Given the description of an element on the screen output the (x, y) to click on. 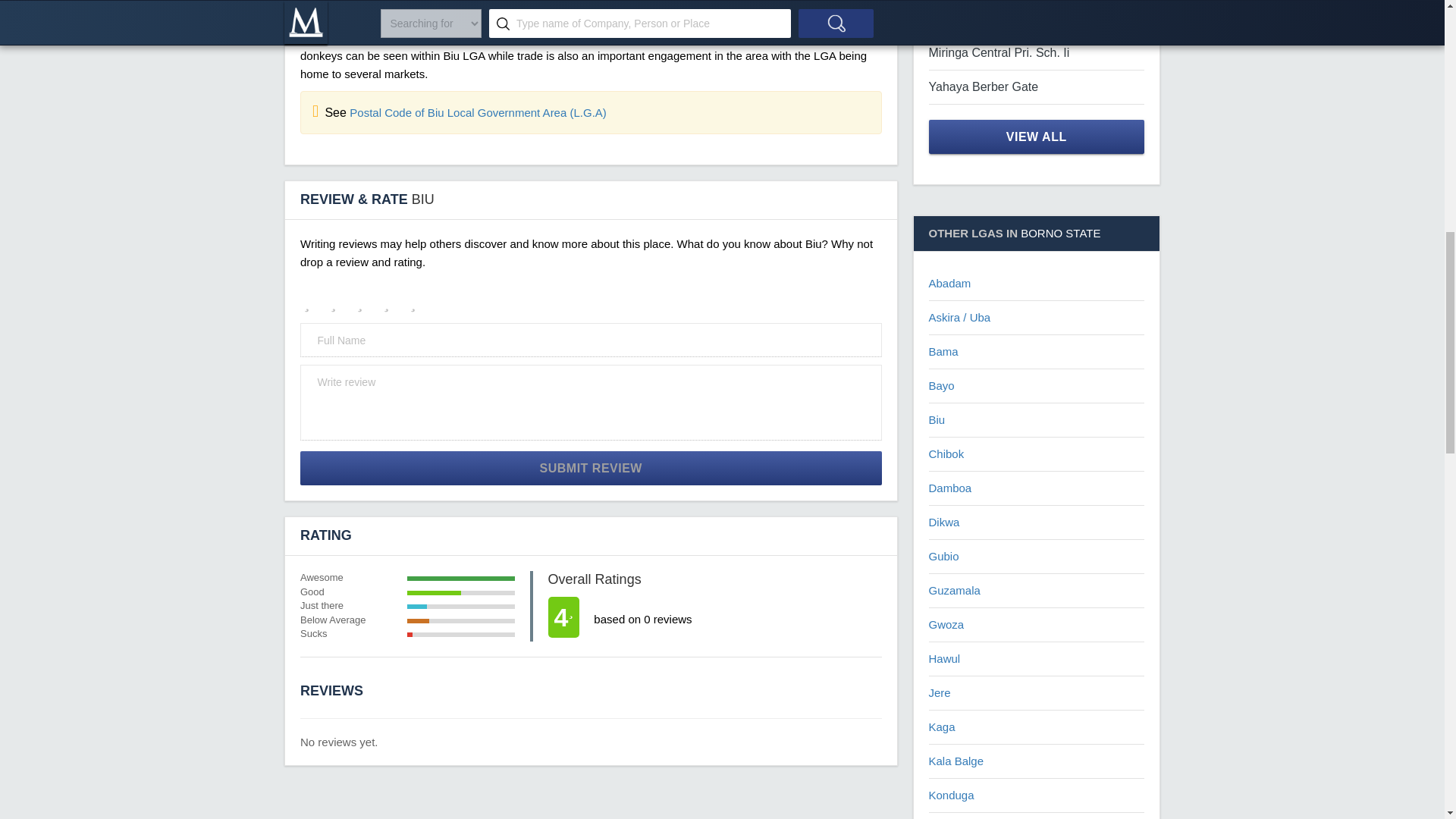
Bayo (940, 385)
VIEW ALL (1036, 136)
Good Place (393, 298)
Damboa (949, 487)
Place sucks! (312, 298)
Kaga (941, 726)
Bama (943, 350)
Dikwa (943, 521)
Awesome Place (419, 298)
Guzamala (953, 590)
Gubio (943, 555)
OTHER LGAS IN BORNO STATE (1035, 233)
Abadam (949, 282)
Konduga (951, 794)
Chibok (945, 453)
